Given the description of an element on the screen output the (x, y) to click on. 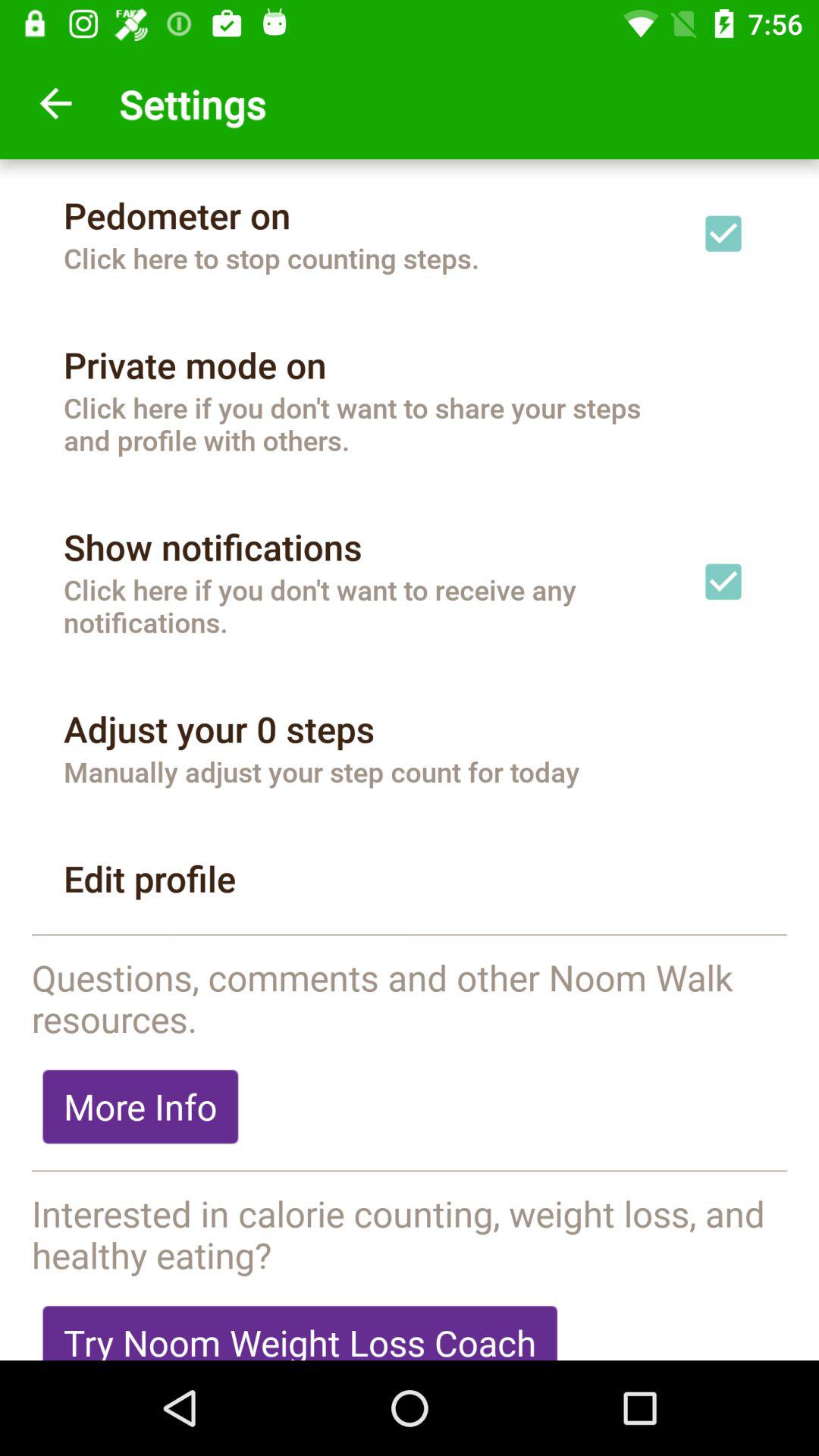
click the item above the click here if icon (194, 364)
